Given the description of an element on the screen output the (x, y) to click on. 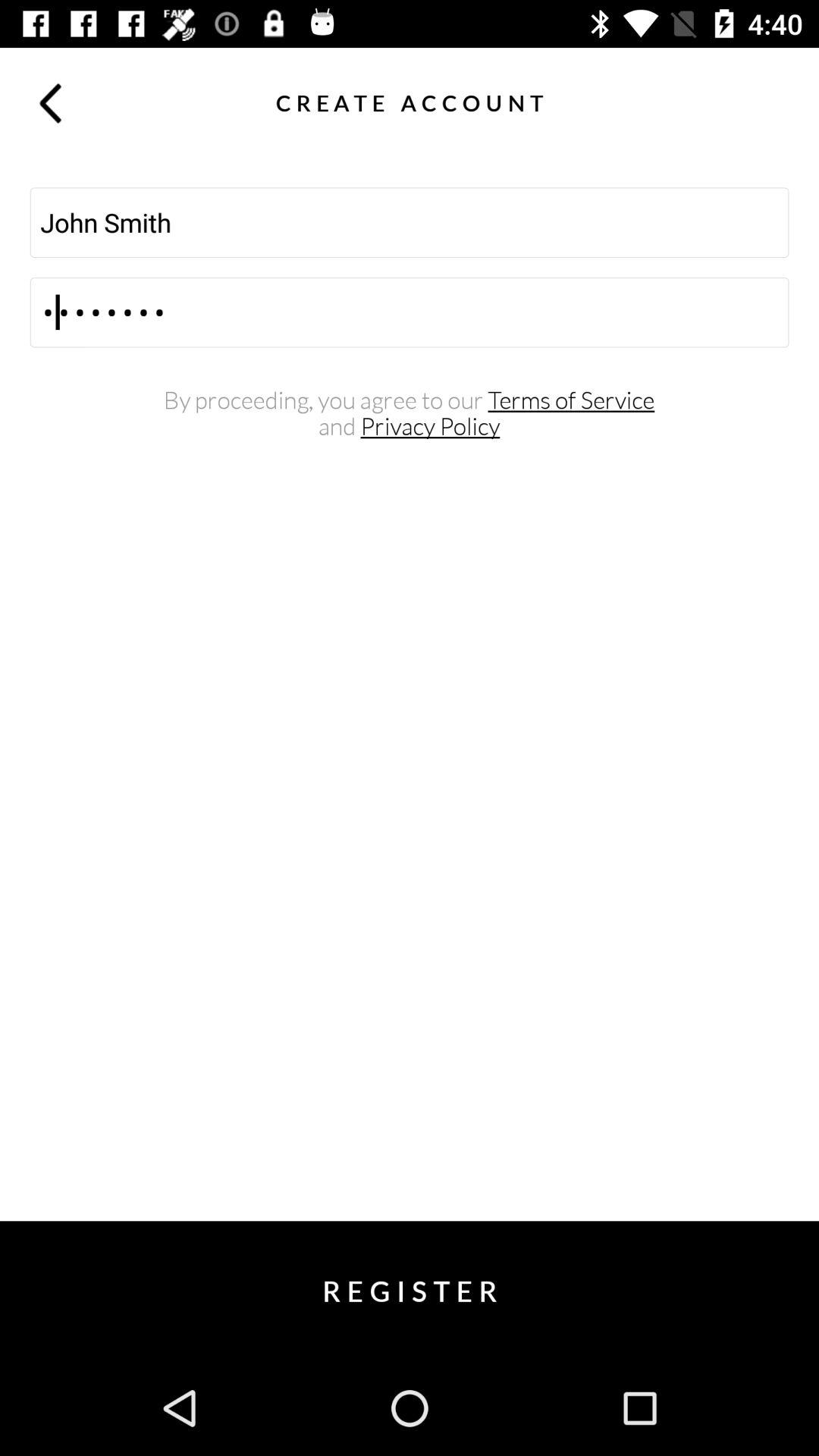
turn on icon below john smith item (409, 312)
